Given the description of an element on the screen output the (x, y) to click on. 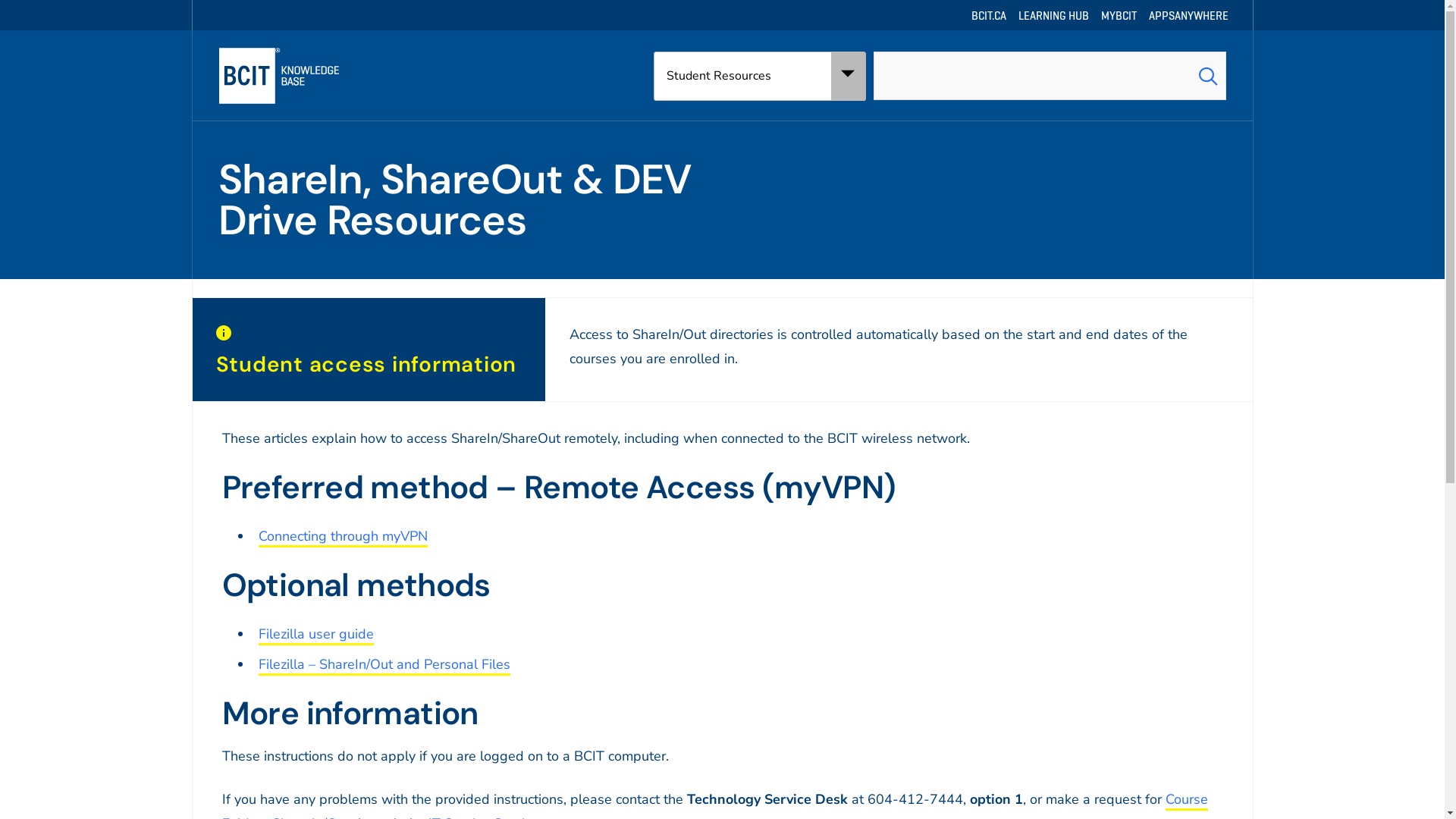
Connecting through myVPN Element type: text (341, 537)
LEARNING HUB Element type: text (1052, 15)
APPSANYWHERE Element type: text (1187, 15)
Filezilla user guide Element type: text (315, 634)
MYBCIT Element type: text (1118, 15)
BCIT.CA Element type: text (987, 15)
